Given the description of an element on the screen output the (x, y) to click on. 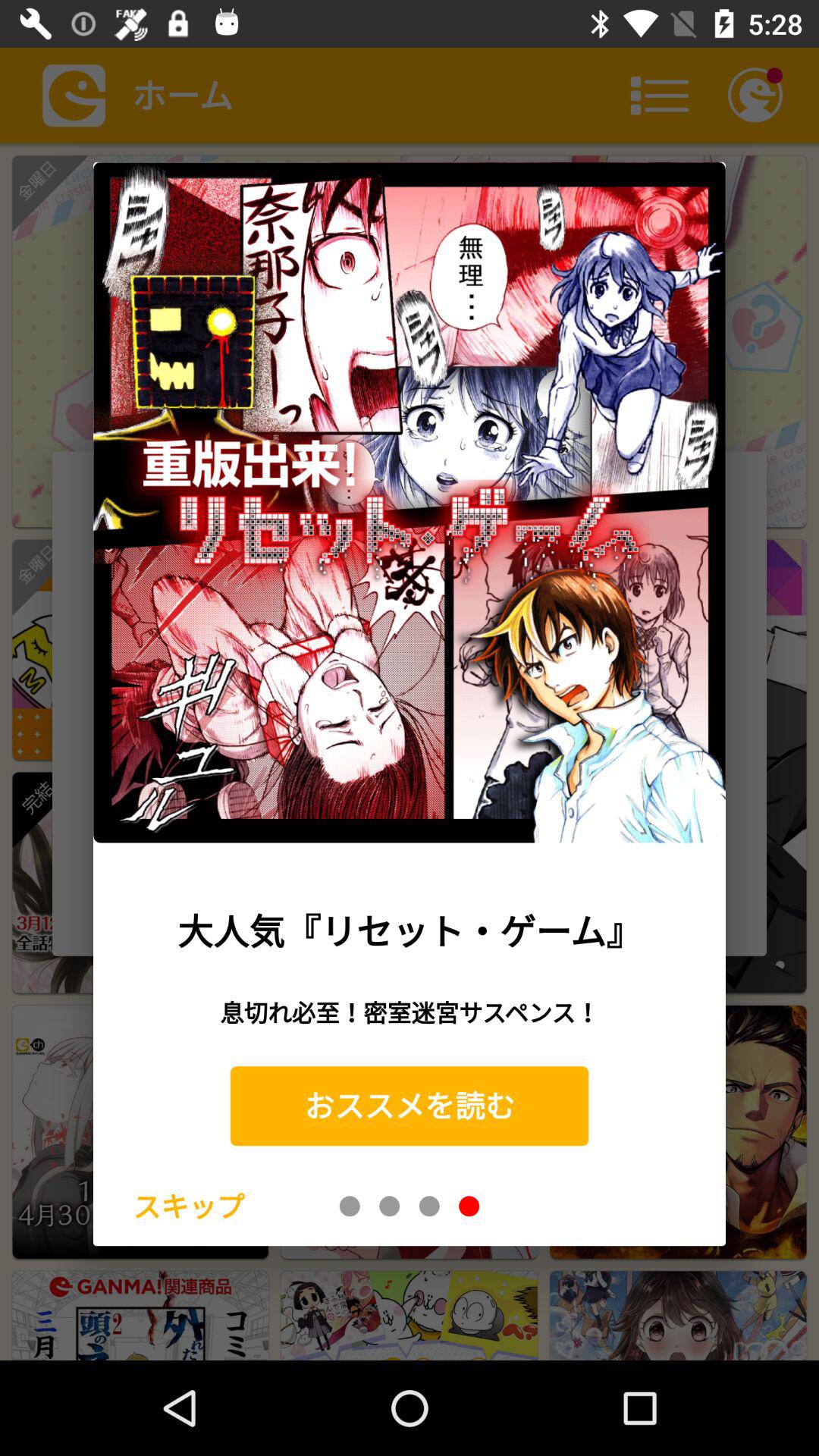
select page (429, 1206)
